Given the description of an element on the screen output the (x, y) to click on. 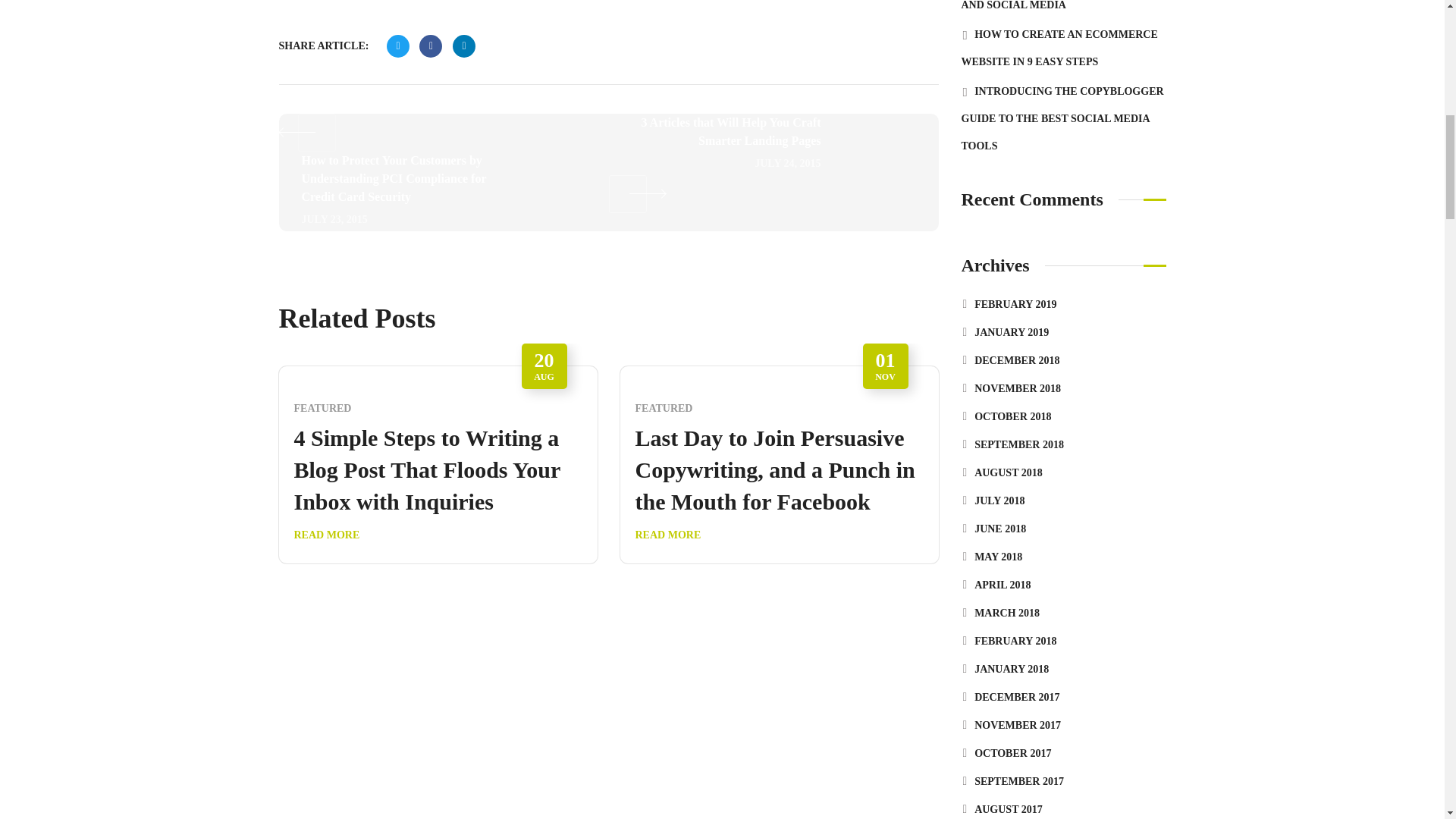
3 Articles that Will Help You Craft Smarter Landing Pages (725, 162)
